Given the description of an element on the screen output the (x, y) to click on. 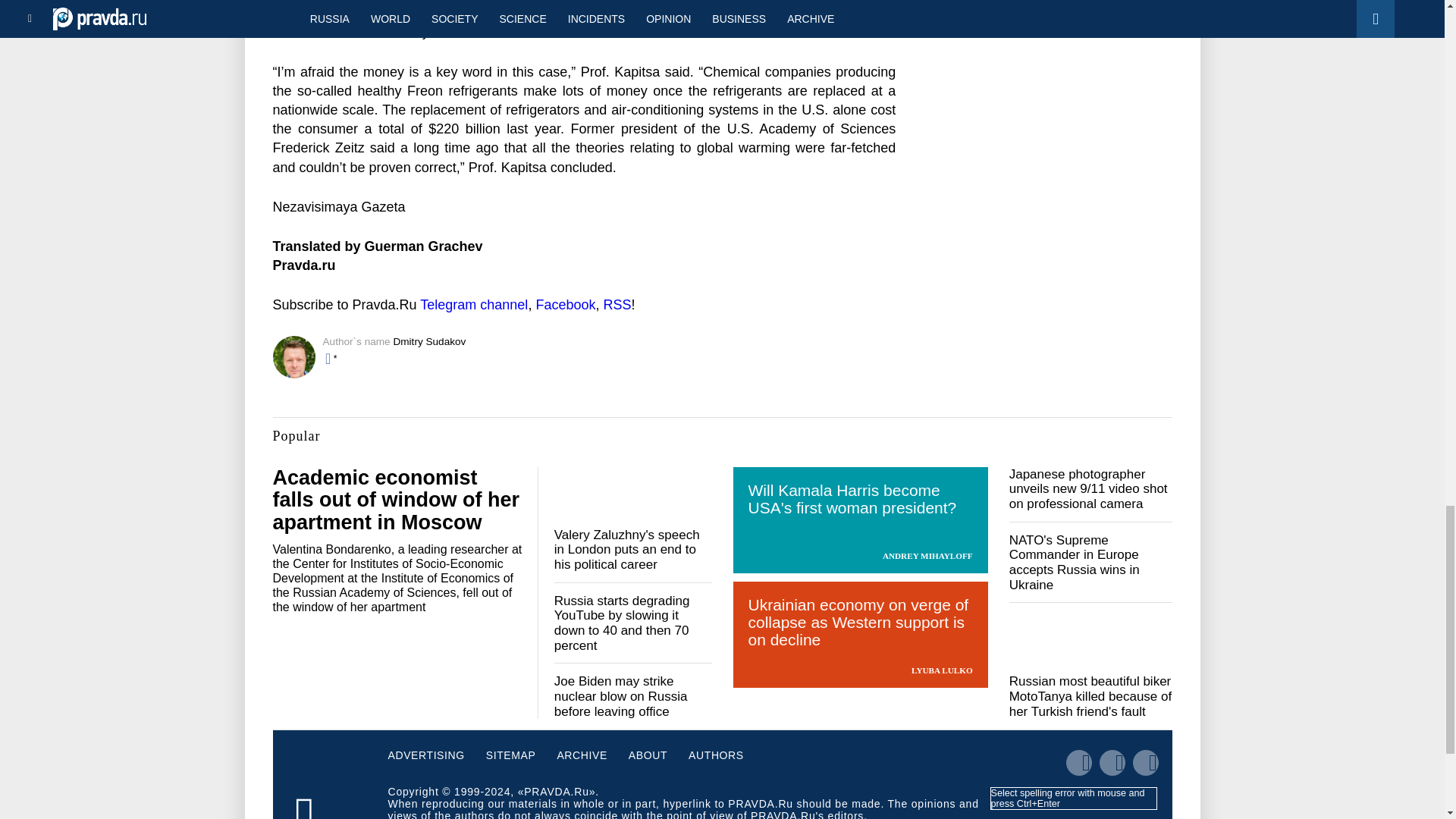
Dmitry Sudakov (429, 341)
Facebook (565, 304)
Telegram channel (473, 304)
RSS (616, 304)
